Given the description of an element on the screen output the (x, y) to click on. 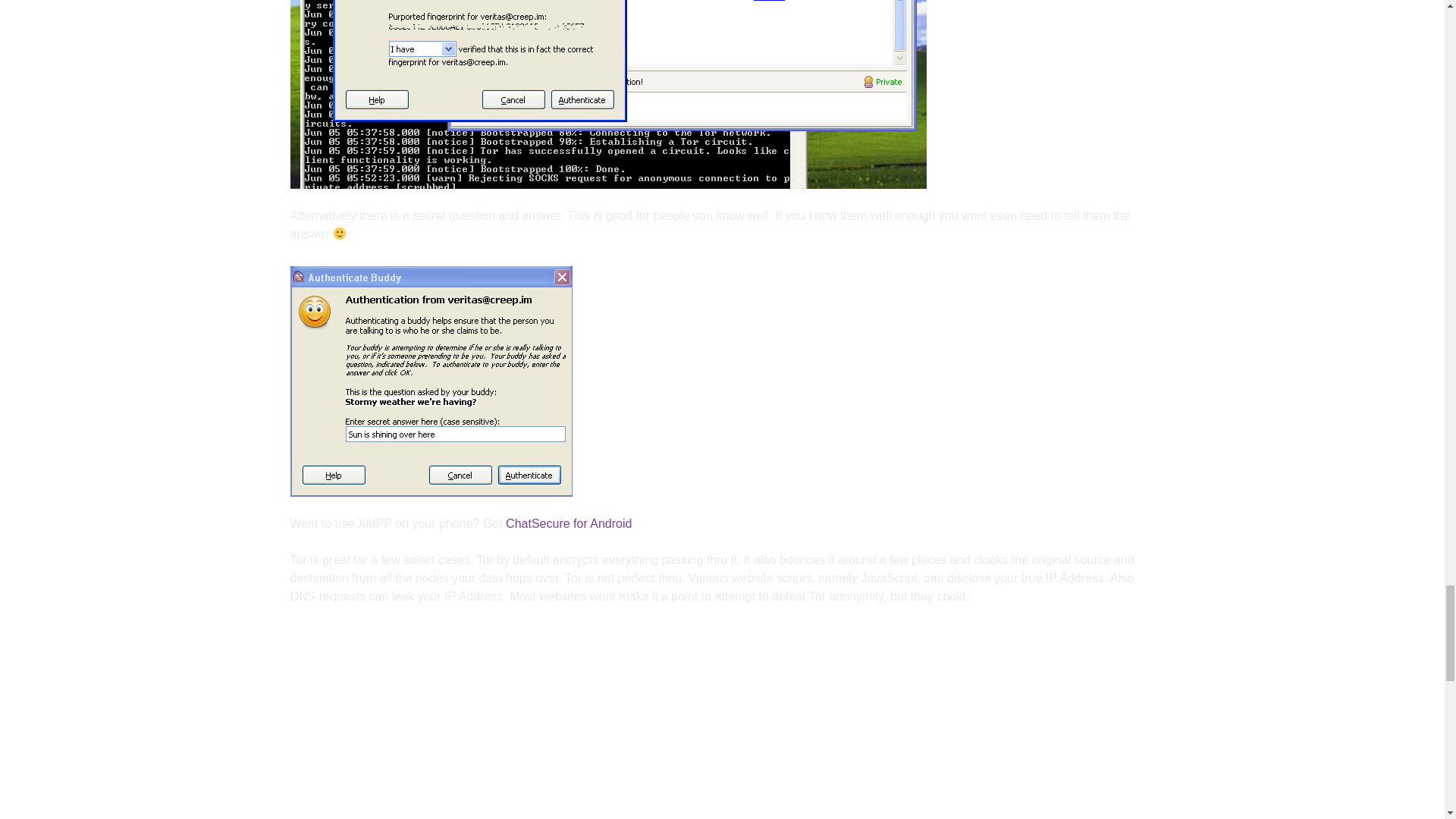
ChatSecure for Android (568, 522)
